Given the description of an element on the screen output the (x, y) to click on. 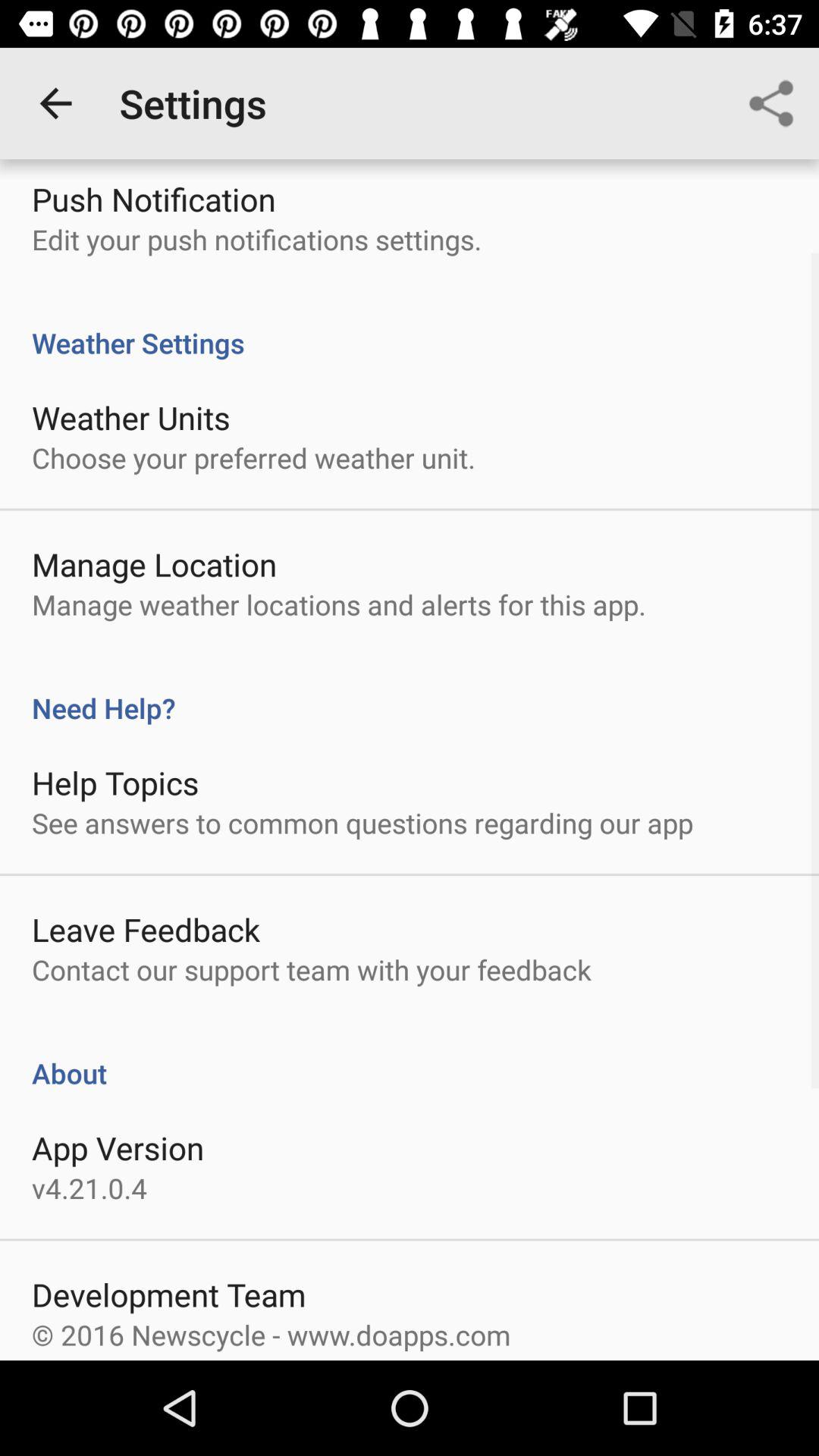
choose the weather units icon (130, 417)
